Given the description of an element on the screen output the (x, y) to click on. 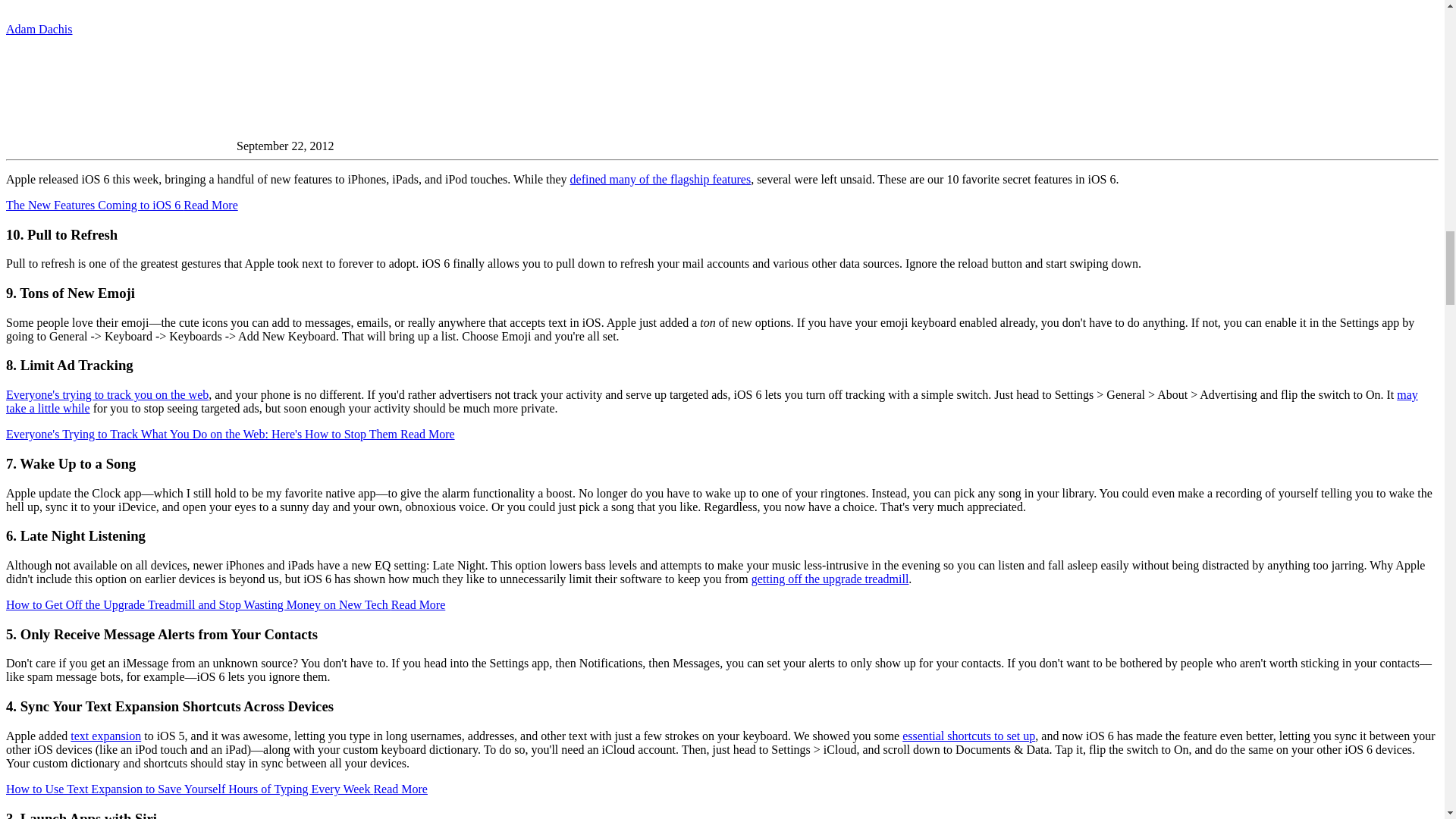
open in a new window (427, 433)
open in a new window (660, 178)
open in a new window (94, 205)
open in a new window (202, 433)
open in a new window (210, 205)
open in a new window (106, 394)
